Given the description of an element on the screen output the (x, y) to click on. 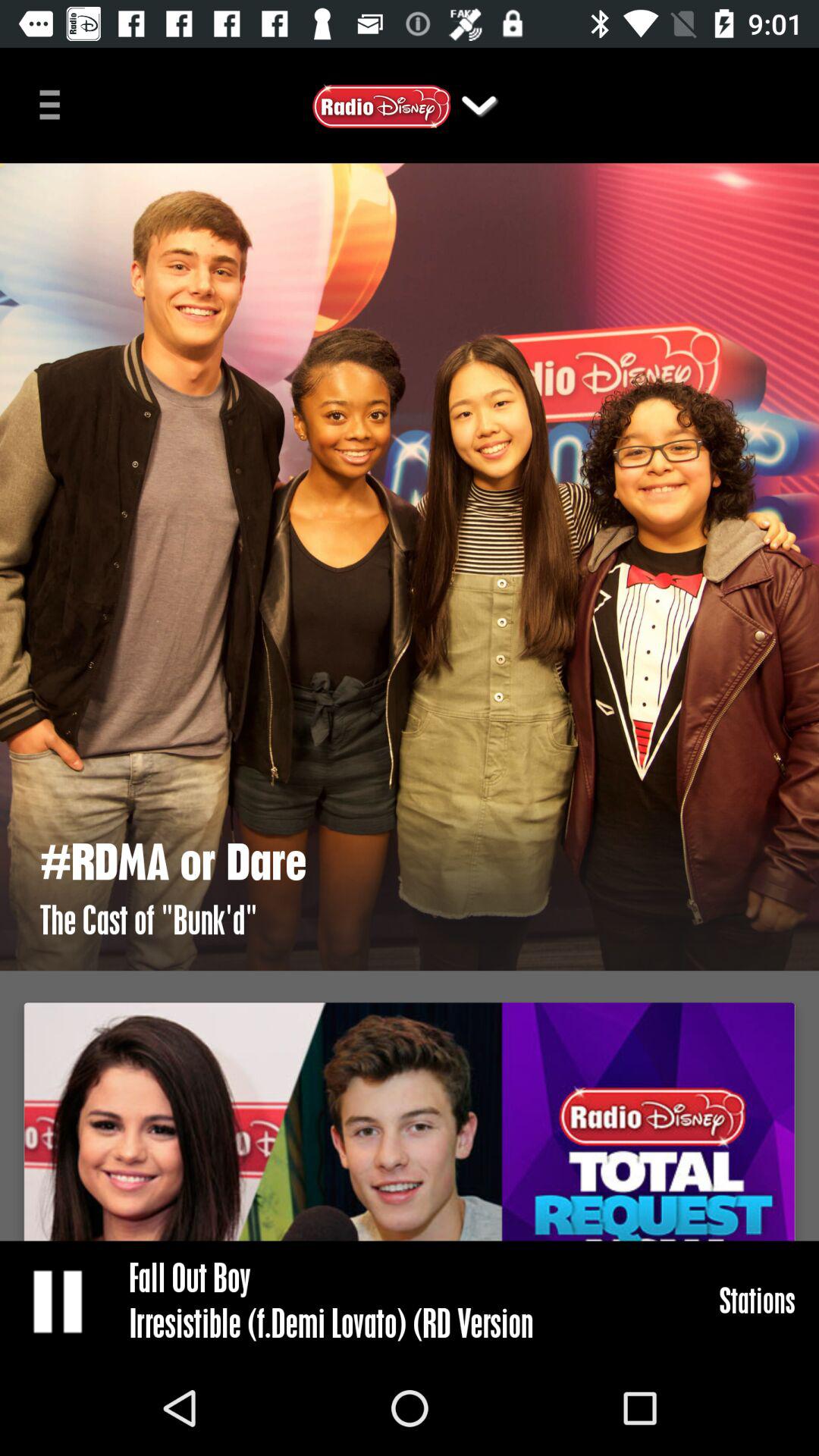
choose the item at the bottom left corner (59, 1300)
